Given the description of an element on the screen output the (x, y) to click on. 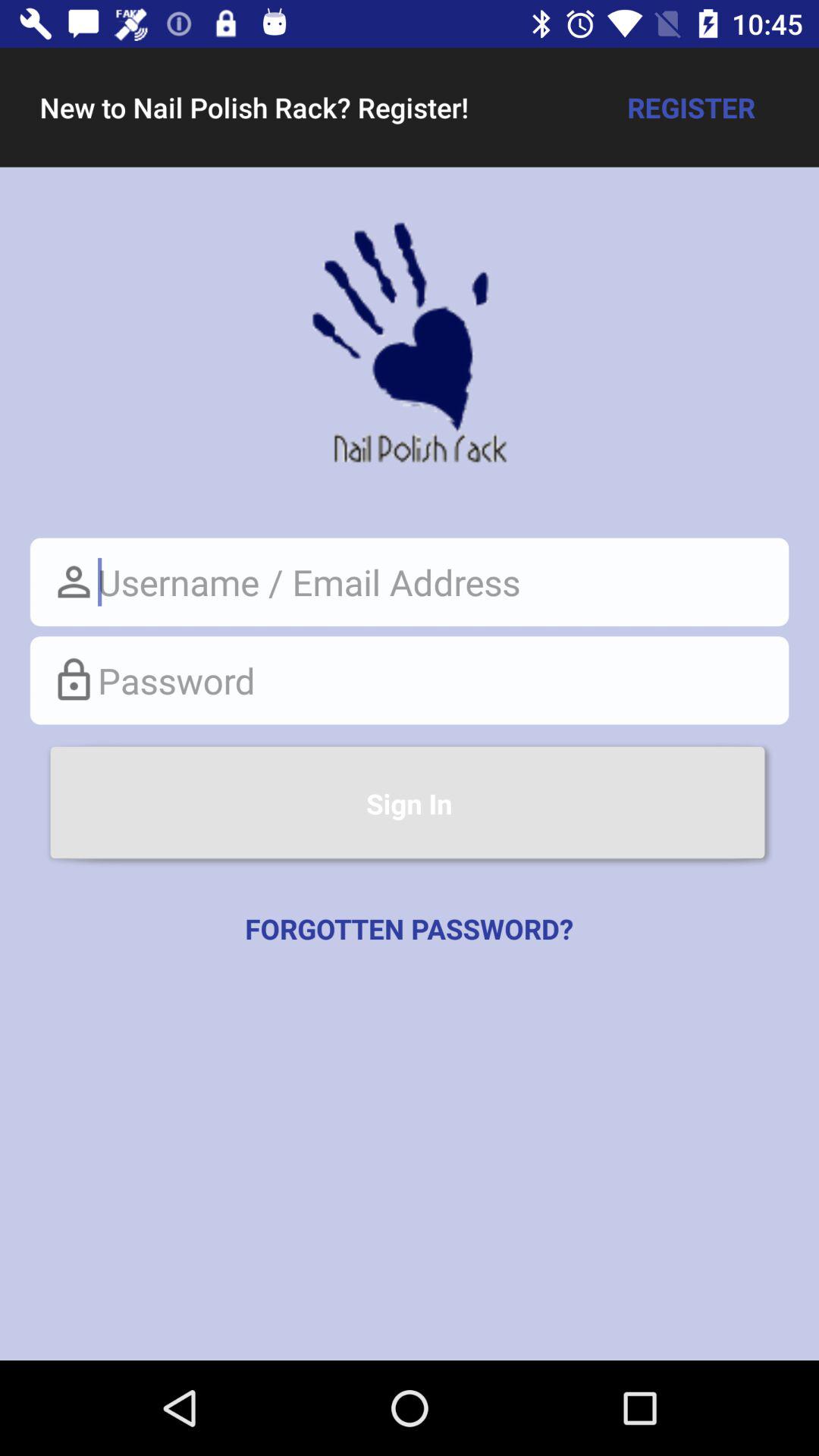
username or e-mail field (409, 582)
